Given the description of an element on the screen output the (x, y) to click on. 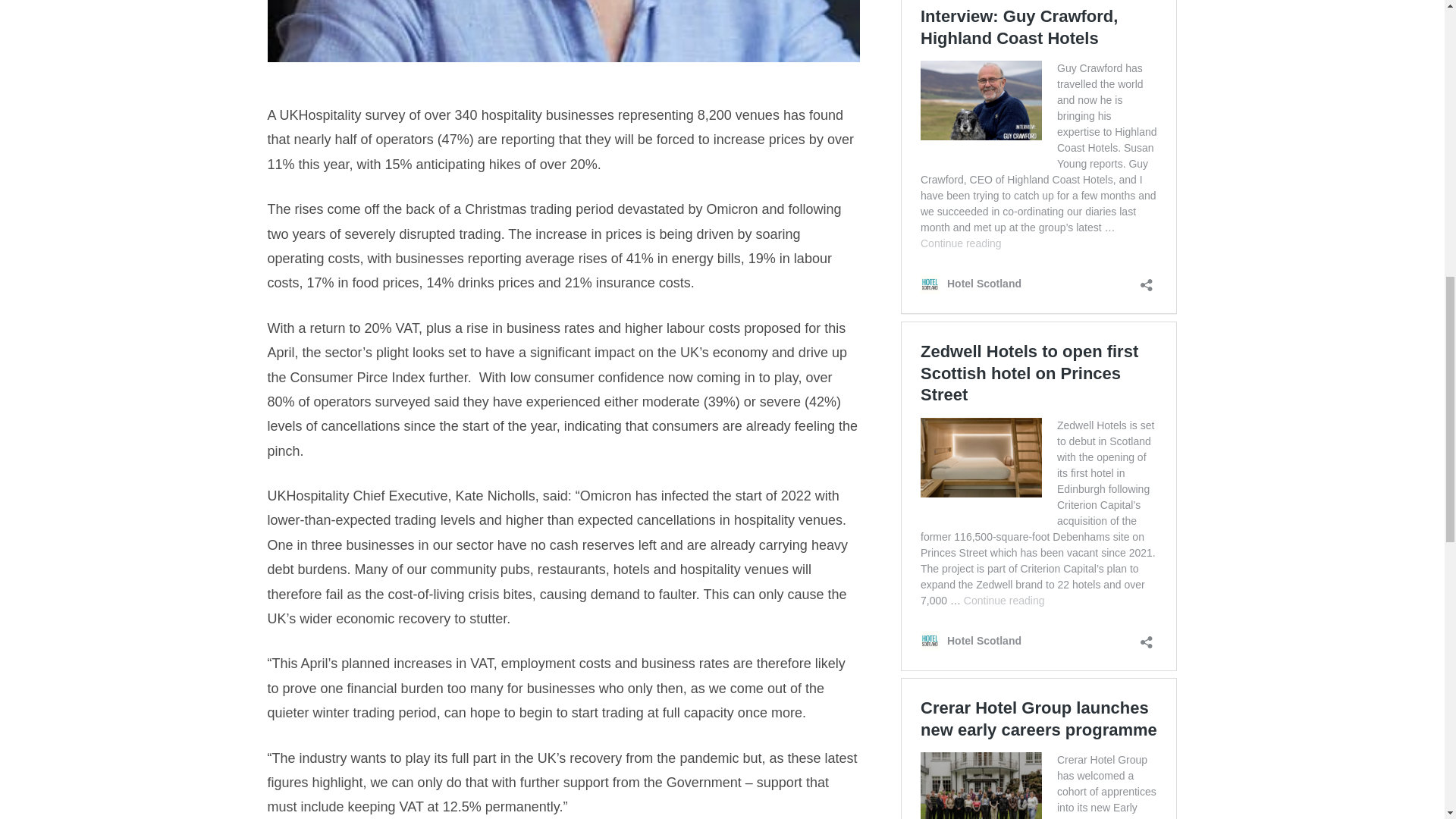
Back to top (1413, 26)
